Given the description of an element on the screen output the (x, y) to click on. 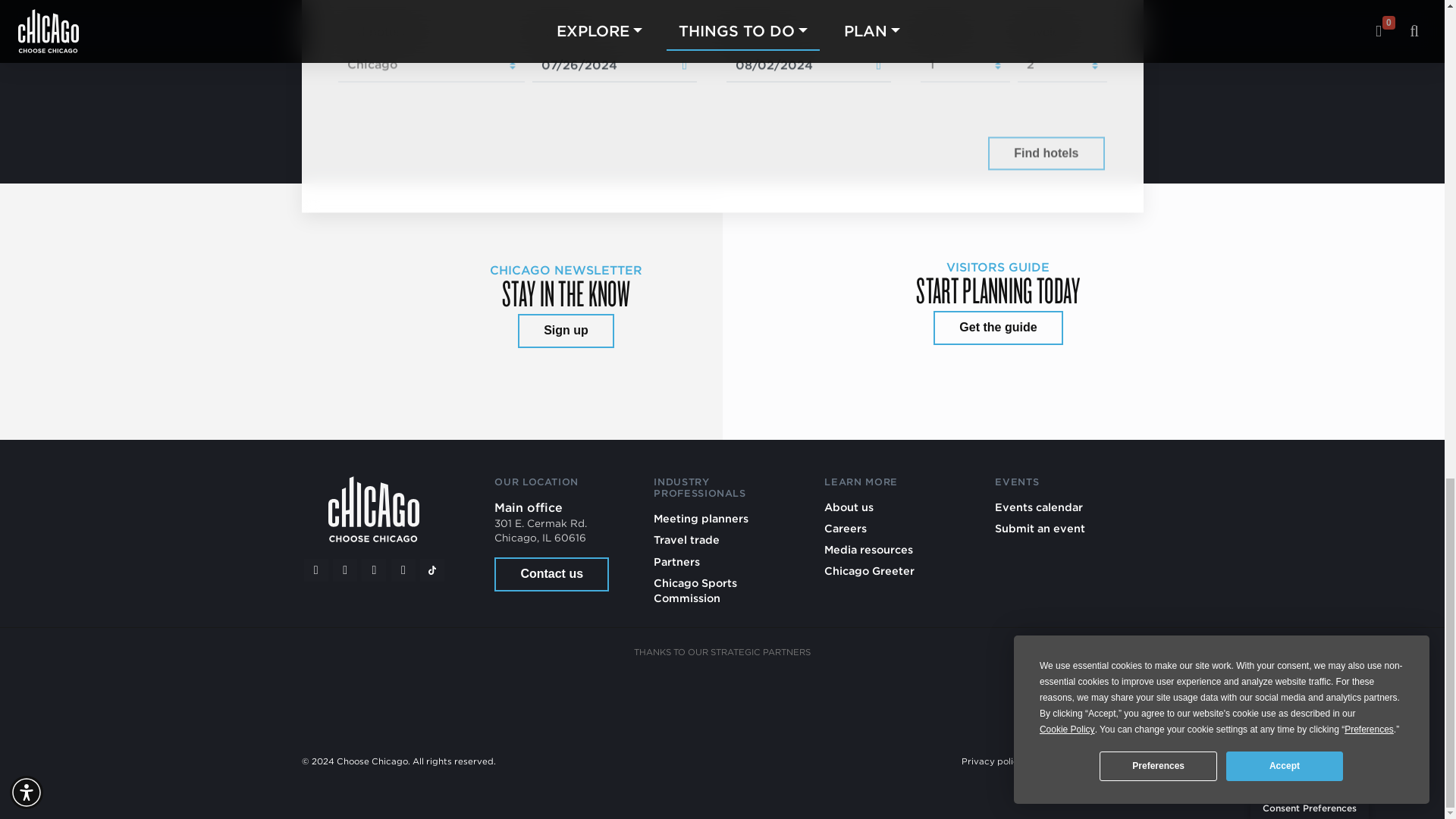
Chicago Department of Aviation (894, 695)
Enjoy Illinois (779, 695)
Powered by Expedia (917, 153)
American Airlines (433, 695)
Brand USA (549, 695)
